Given the description of an element on the screen output the (x, y) to click on. 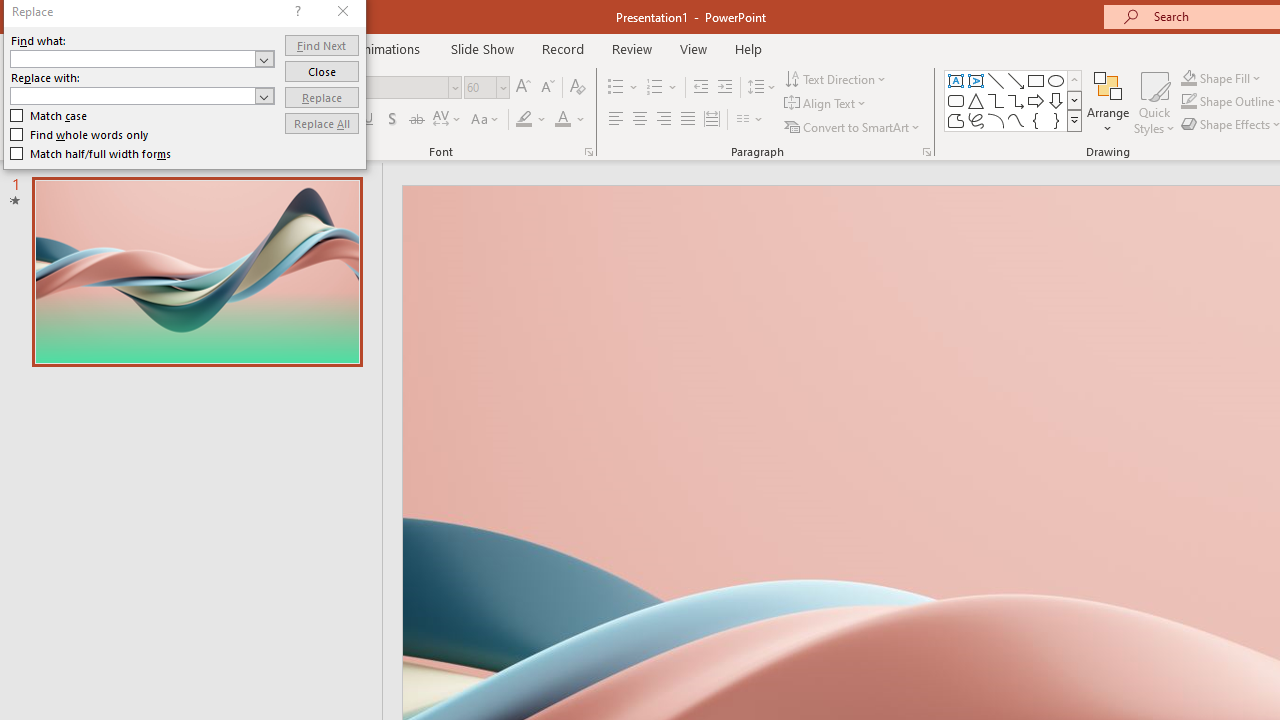
Find whole words only (79, 134)
Match half/full width forms (91, 154)
